Given the description of an element on the screen output the (x, y) to click on. 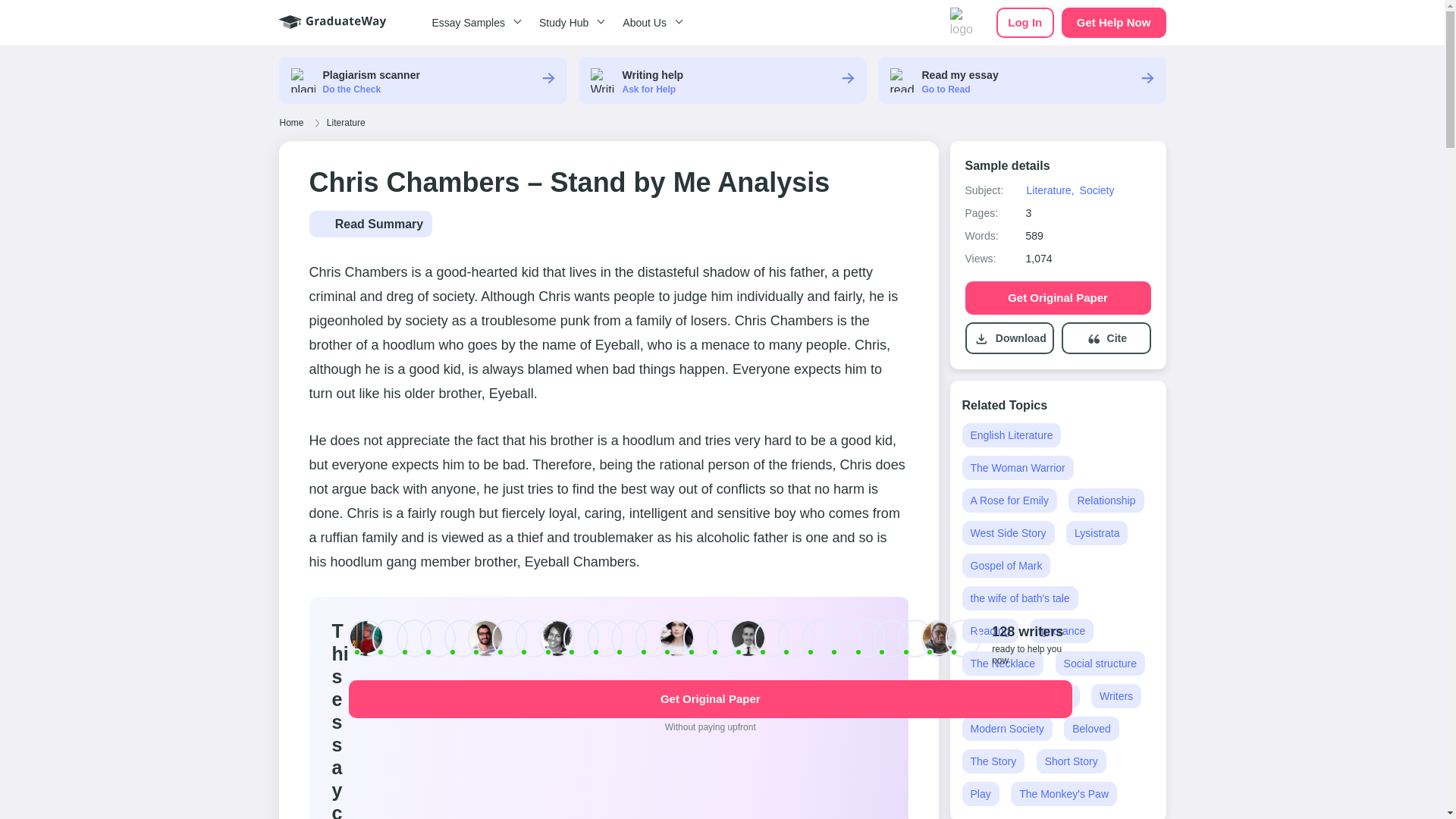
Study Hub (569, 22)
Essay Samples (473, 22)
Cite (1116, 337)
Literature (346, 122)
About Us (649, 22)
Cite (1106, 337)
Home (291, 122)
Literature, (1049, 190)
Society (1096, 190)
